Given the description of an element on the screen output the (x, y) to click on. 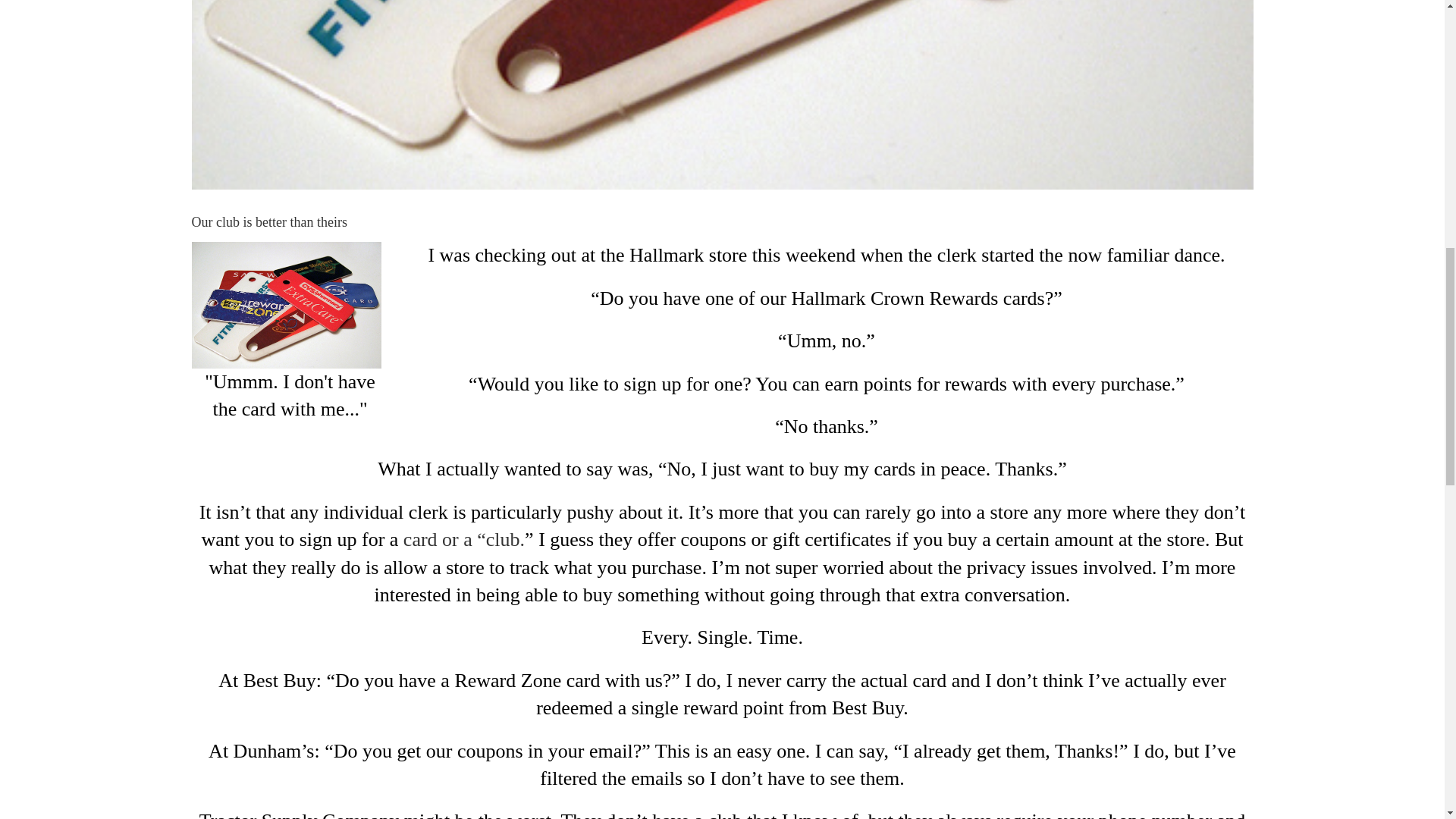
loyalty-rewards-card1 (285, 304)
